Given the description of an element on the screen output the (x, y) to click on. 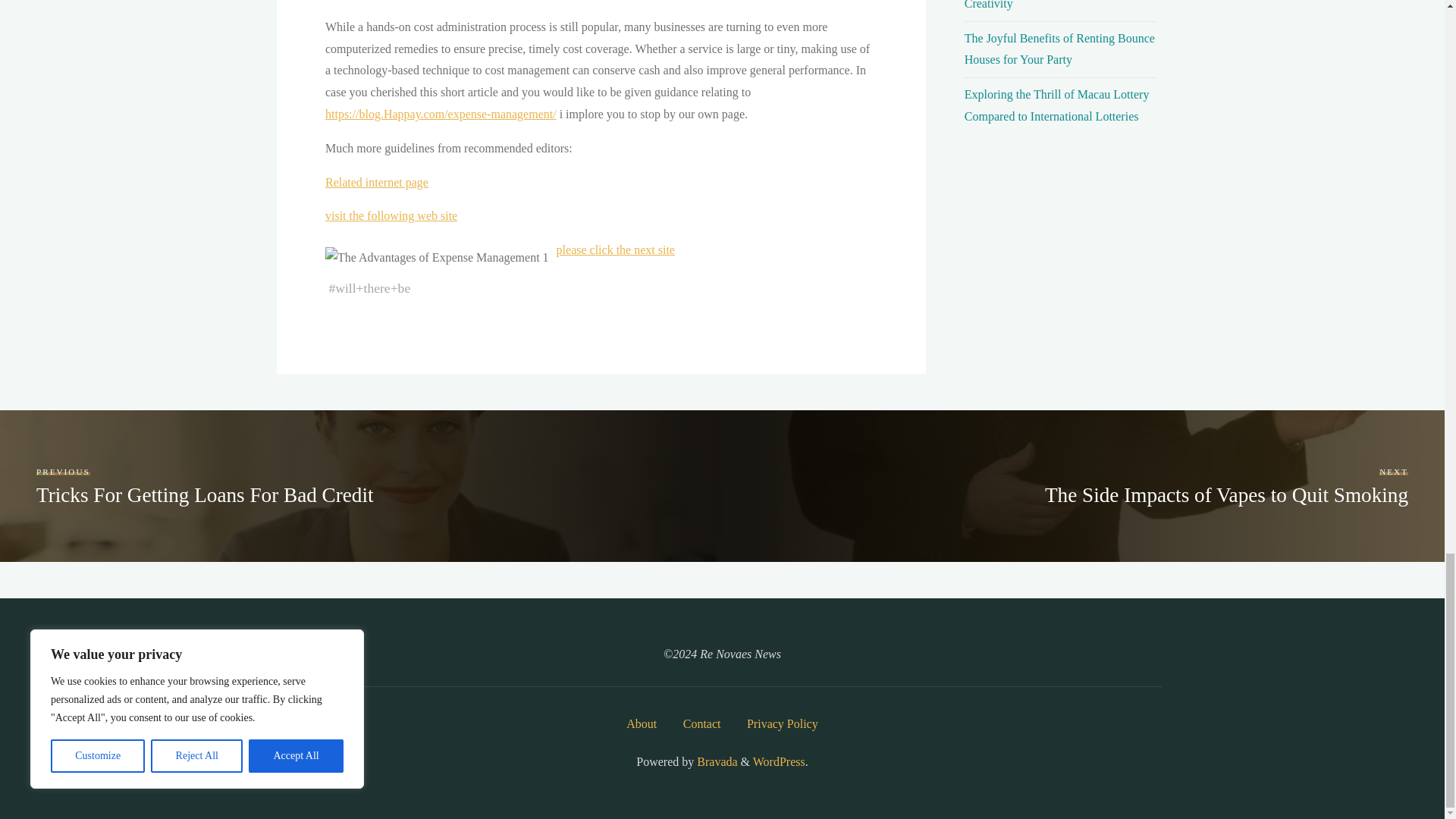
Semantic Personal Publishing Platform (778, 761)
visit the following web site (390, 215)
Related internet page (376, 182)
please click the next site (615, 249)
Bravada WordPress Theme by Cryout Creations (715, 761)
